Given the description of an element on the screen output the (x, y) to click on. 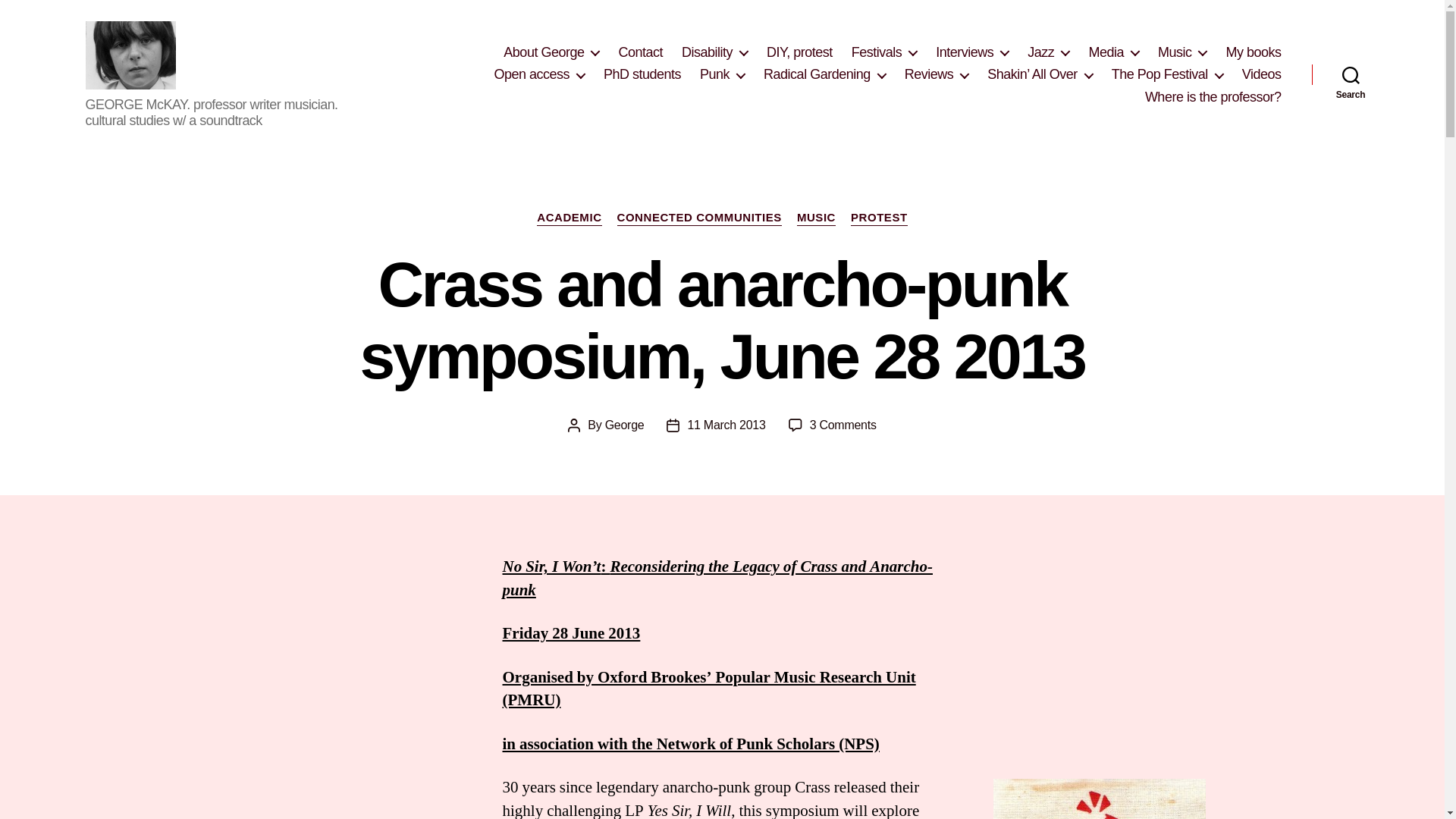
Festivals (884, 53)
Jazz (1047, 53)
Interviews (972, 53)
Contact (639, 53)
About George (550, 53)
DIY, protest (799, 53)
Disability (714, 53)
